Given the description of an element on the screen output the (x, y) to click on. 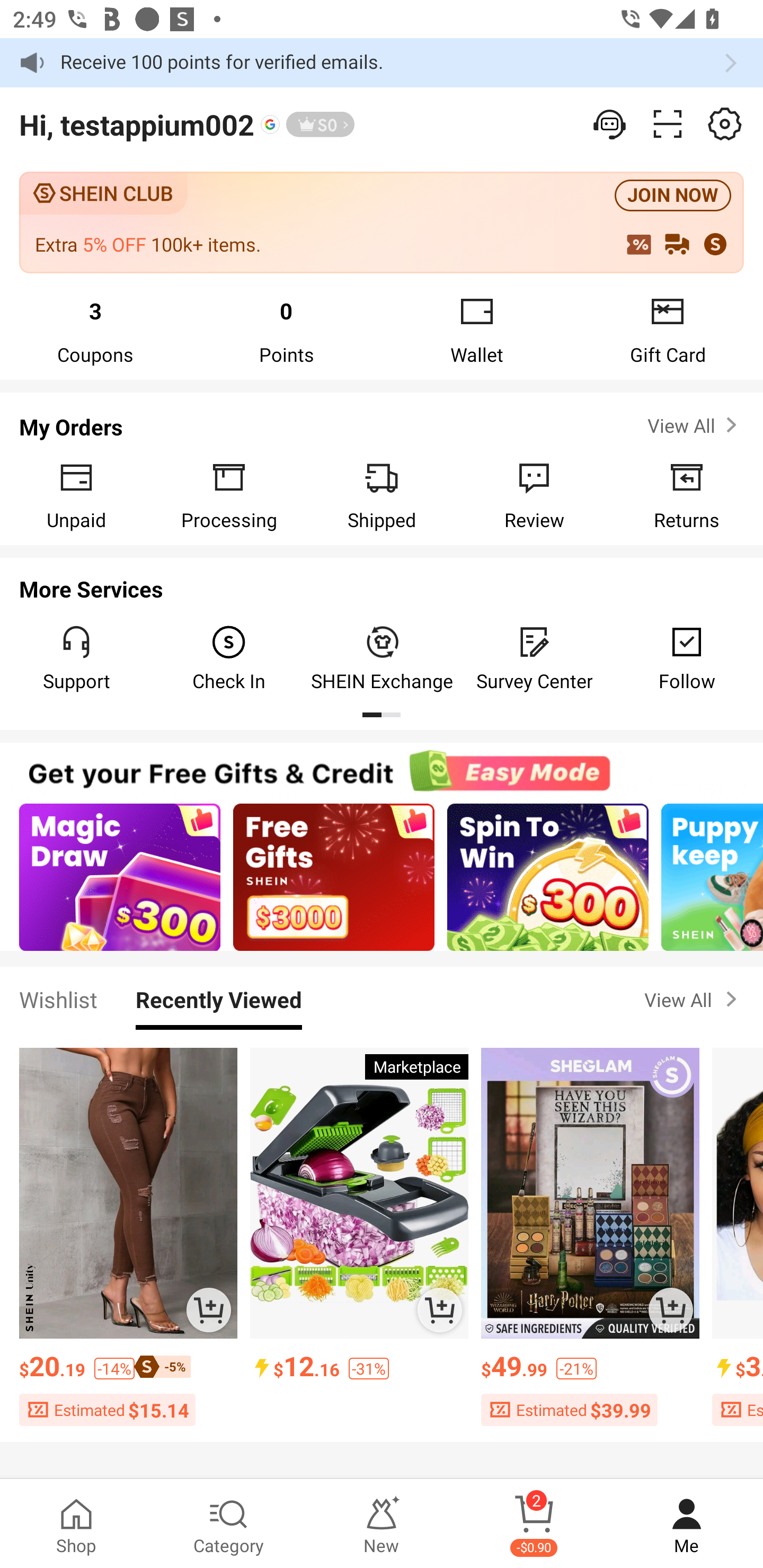
Receive 100 points for verified emails. (381, 62)
Hi, testappium002 (136, 124)
Setting (610, 123)
Scan QR Code (667, 123)
Setting (724, 123)
SHEIN VIP (320, 124)
JOIN NOW Extra 5% OFF 100k+ items. (381, 221)
JOIN NOW (672, 195)
3 Coupons (95, 329)
0 Points (285, 329)
Wallet (476, 329)
Gift Card (667, 329)
View All (693, 424)
Unpaid (76, 495)
Processing (228, 495)
Shipped (381, 495)
Review (533, 495)
Returns (686, 495)
More Services (381, 583)
Support (76, 657)
Check In (228, 657)
SHEIN Exchange (381, 657)
Survey Center (533, 657)
Follow (686, 657)
Wishlist Recently Viewed View All (381, 999)
Wishlist (58, 999)
View All (693, 999)
ADD TO CART (208, 1310)
ADD TO CART (439, 1310)
ADD TO CART (670, 1310)
Shop (76, 1523)
Category (228, 1523)
New (381, 1523)
Cart 2 -$0.90 (533, 1523)
